Given the description of an element on the screen output the (x, y) to click on. 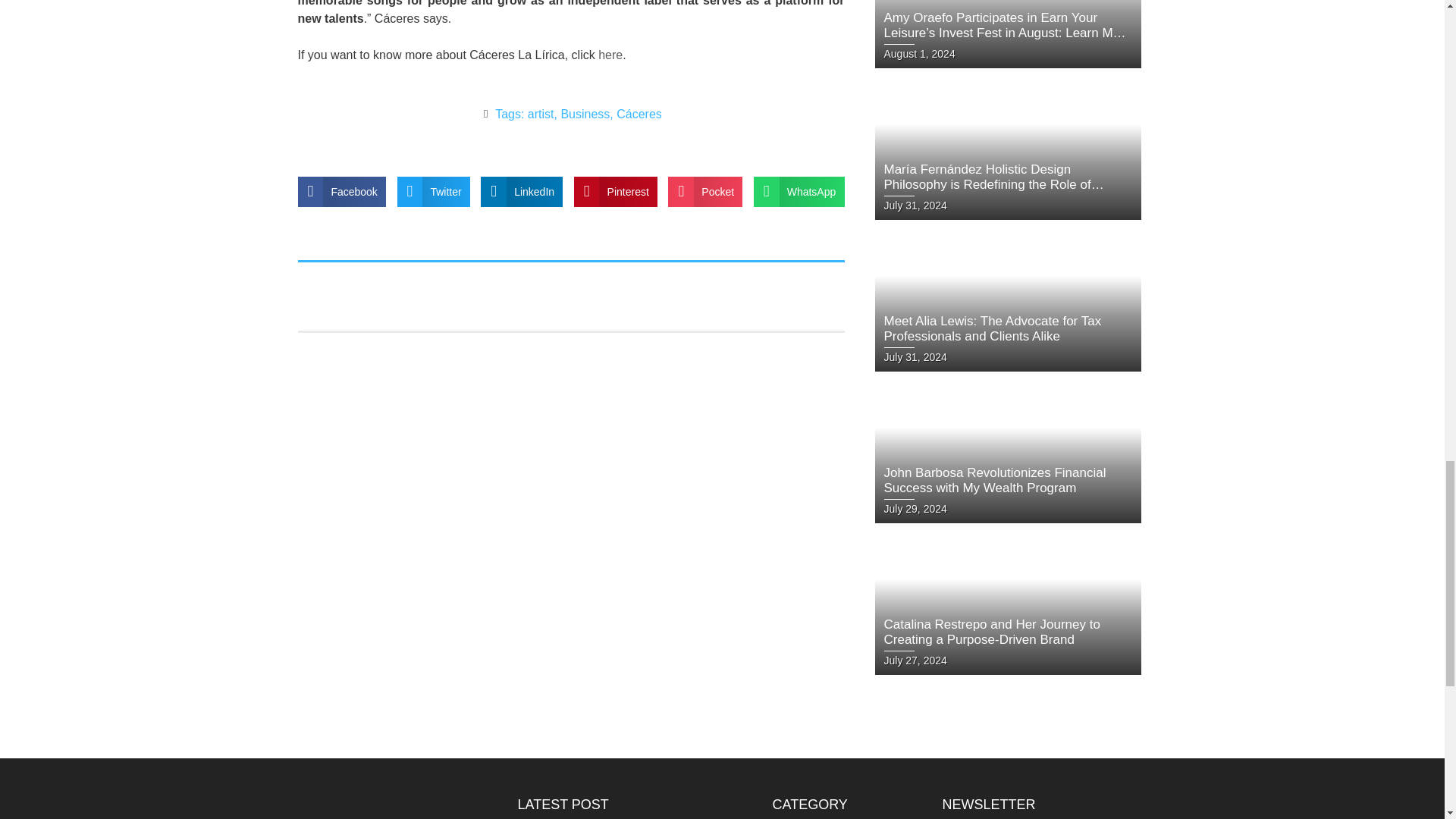
here (610, 54)
Business (585, 113)
artist (540, 113)
